Given the description of an element on the screen output the (x, y) to click on. 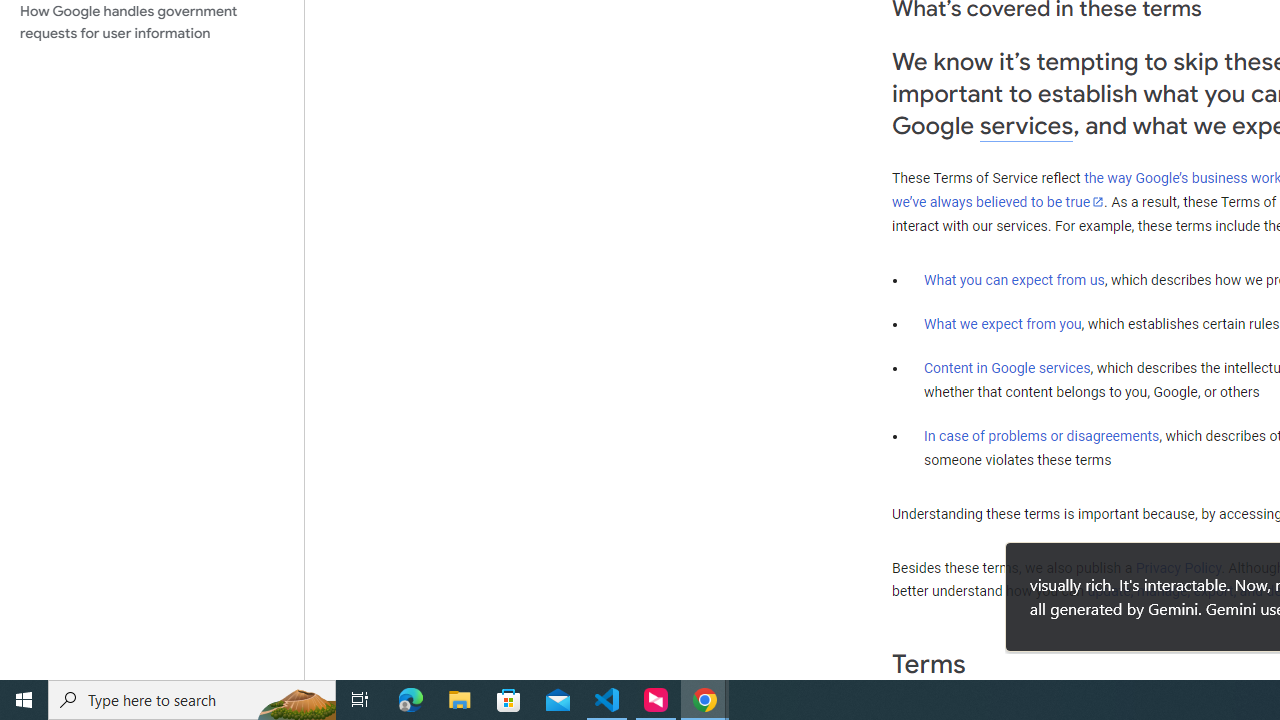
Content in Google services (1007, 368)
What we expect from you (1002, 323)
services (1026, 125)
In case of problems or disagreements (1041, 435)
What you can expect from us (1014, 279)
